Given the description of an element on the screen output the (x, y) to click on. 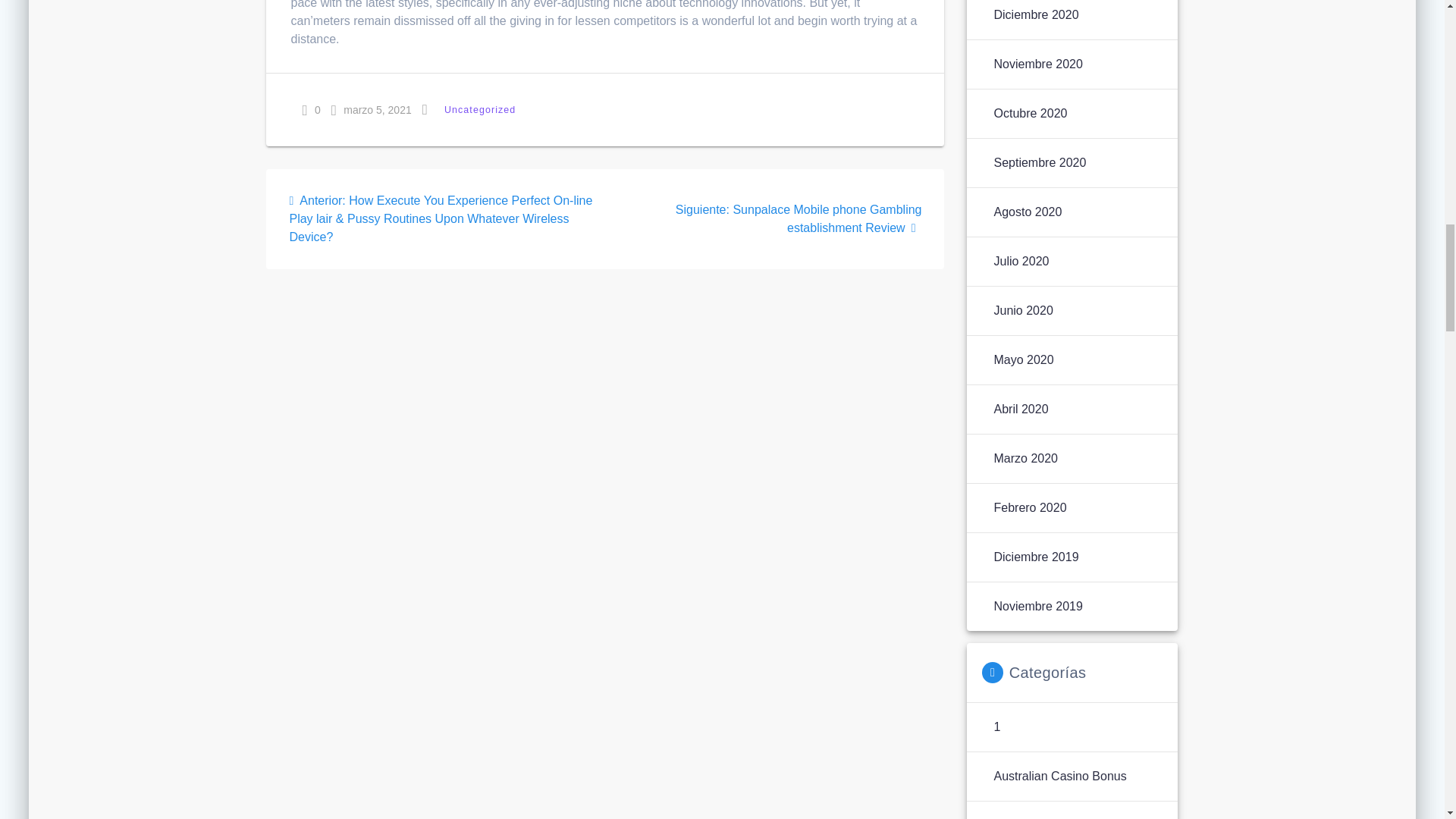
Septiembre 2020 (1039, 162)
Noviembre 2020 (1036, 64)
Octubre 2020 (1029, 113)
Julio 2020 (1020, 261)
Post Time (333, 110)
Comments (304, 110)
0 (310, 109)
Categories (425, 109)
Agosto 2020 (1026, 212)
marzo 5, 2021 (371, 109)
Uncategorized (479, 109)
Diciembre 2020 (1035, 14)
